Given the description of an element on the screen output the (x, y) to click on. 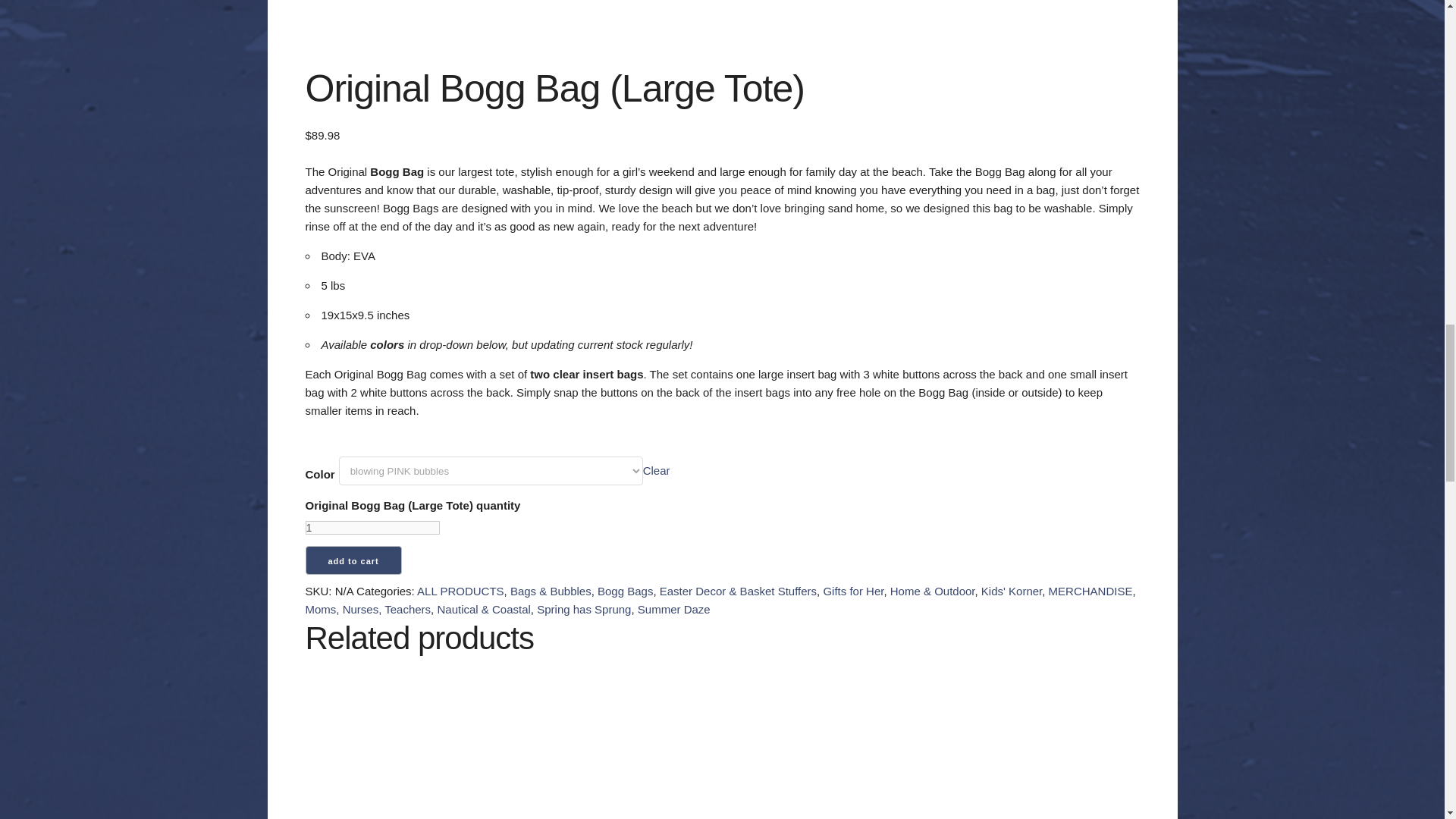
Bogg Bags (624, 590)
add to cart (352, 560)
Clear (656, 470)
1 (371, 527)
ALL PRODUCTS (459, 590)
